Given the description of an element on the screen output the (x, y) to click on. 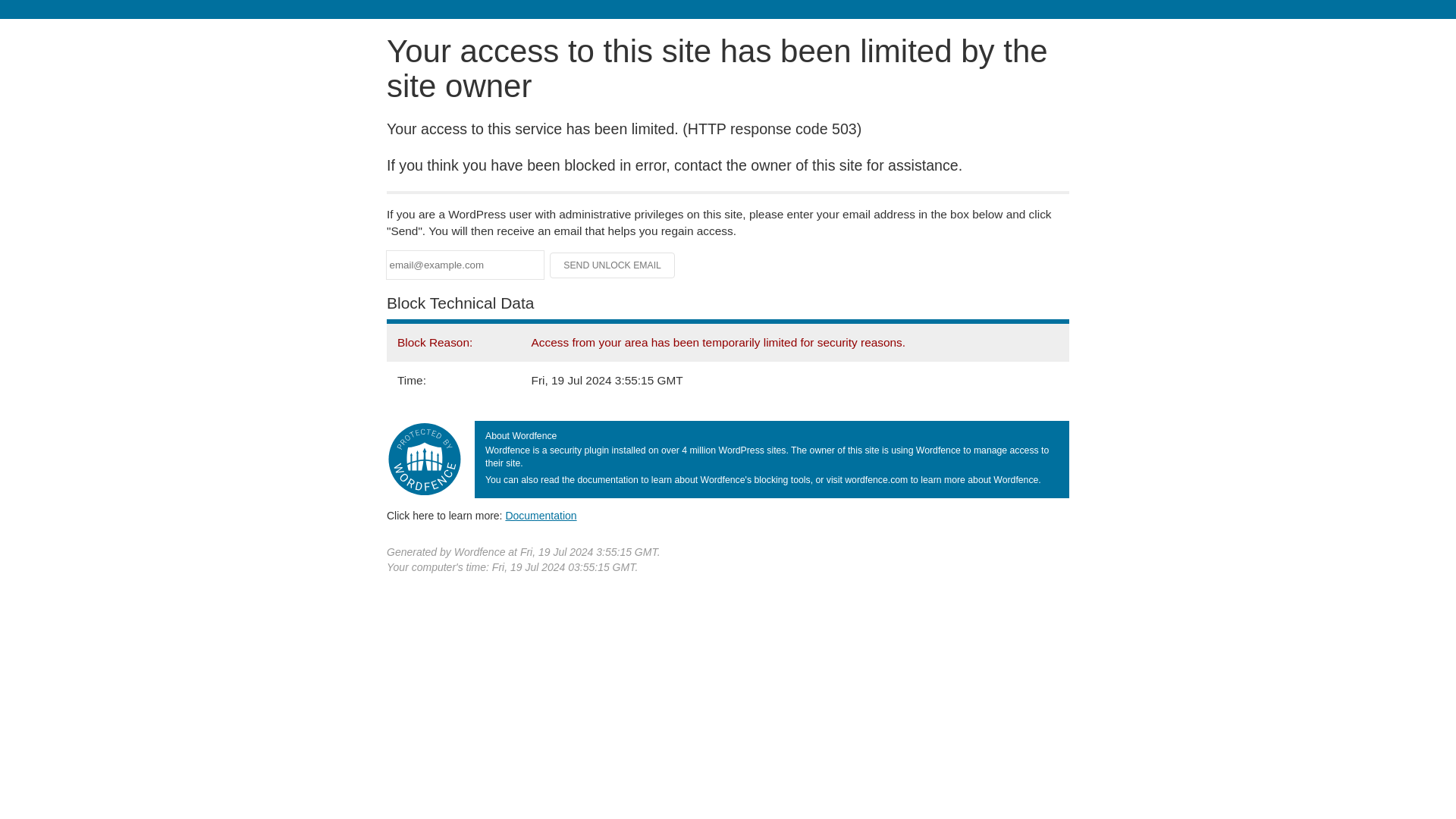
Send Unlock Email (612, 265)
Send Unlock Email (612, 265)
Documentation (540, 515)
